Given the description of an element on the screen output the (x, y) to click on. 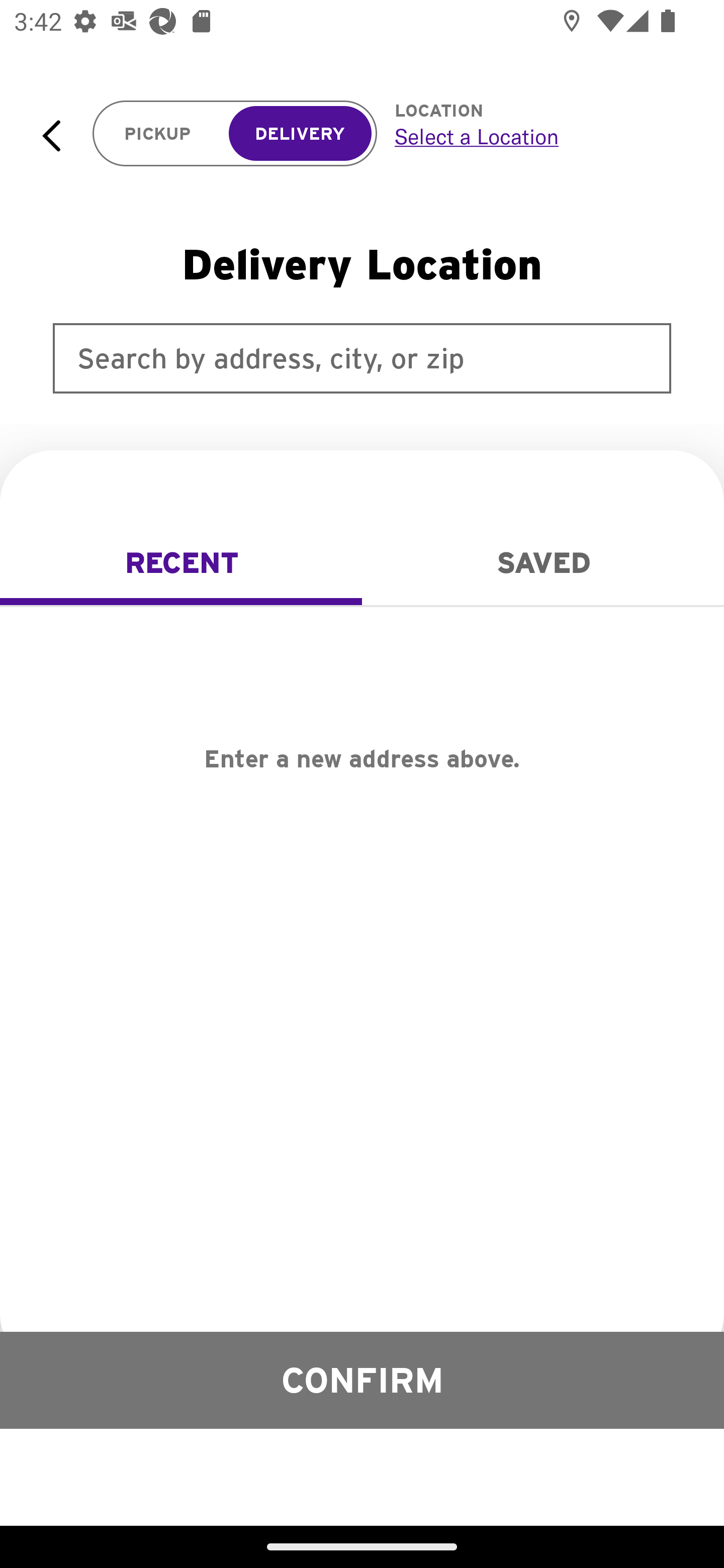
PICKUP (157, 133)
DELIVERY (299, 133)
Select a Location (536, 136)
Search by address, city, or zip (361, 358)
Saved SAVED (543, 562)
CONFIRM (362, 1379)
